Given the description of an element on the screen output the (x, y) to click on. 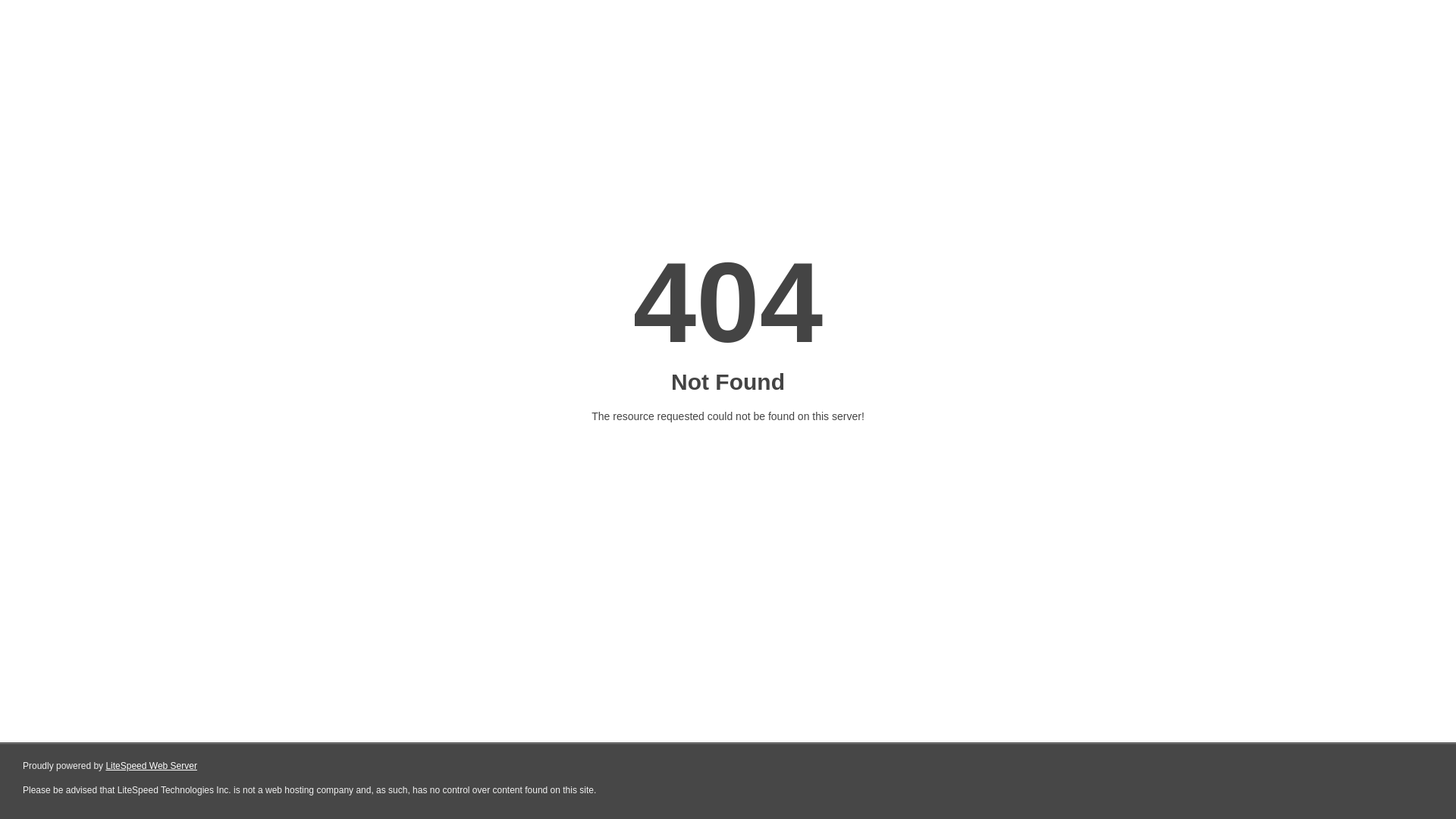
LiteSpeed Web Server Element type: text (151, 765)
